Given the description of an element on the screen output the (x, y) to click on. 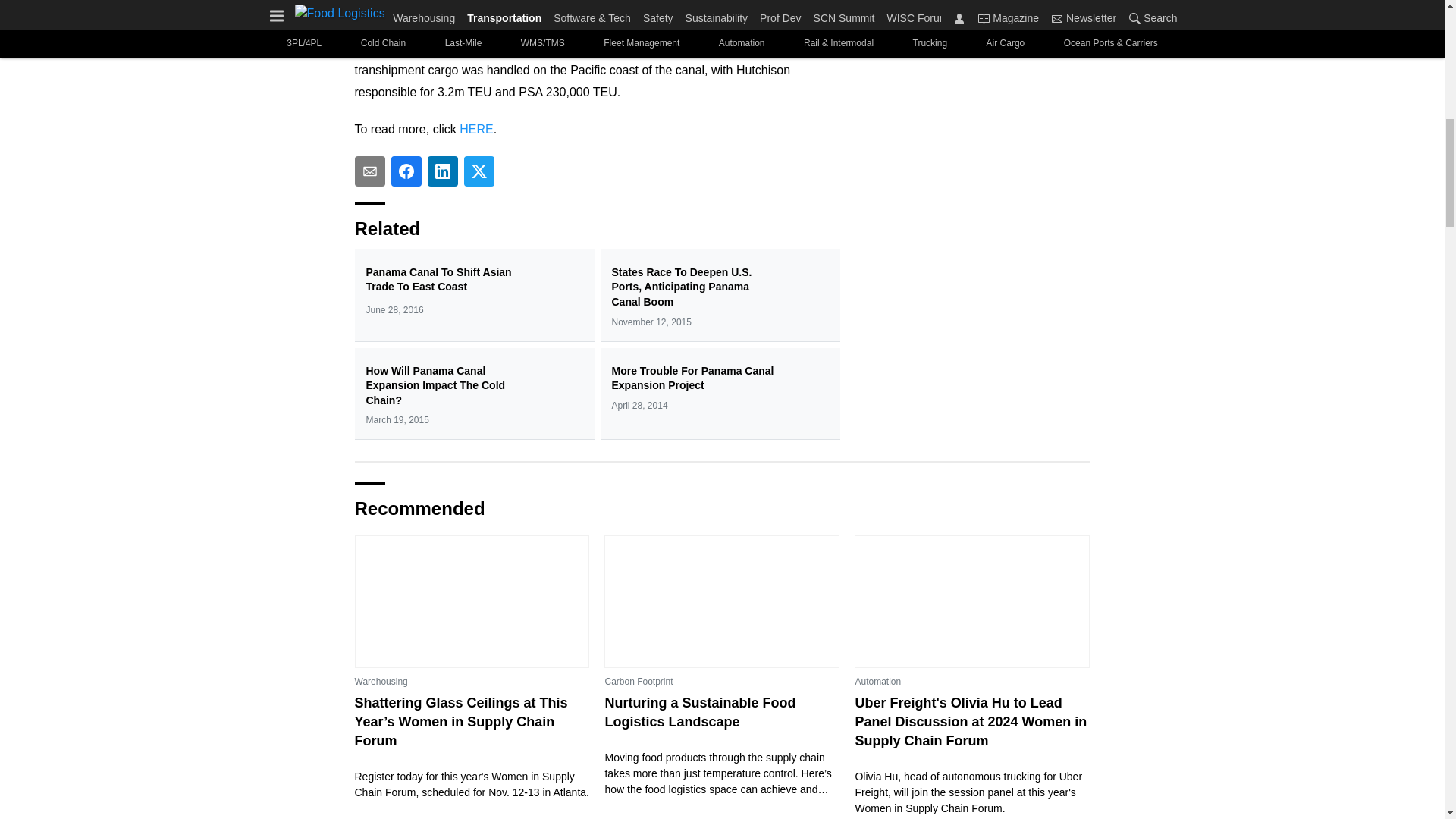
Share To linkedin (443, 171)
Share To facebook (406, 171)
Share To email (370, 171)
Share To twitter (479, 171)
